Given the description of an element on the screen output the (x, y) to click on. 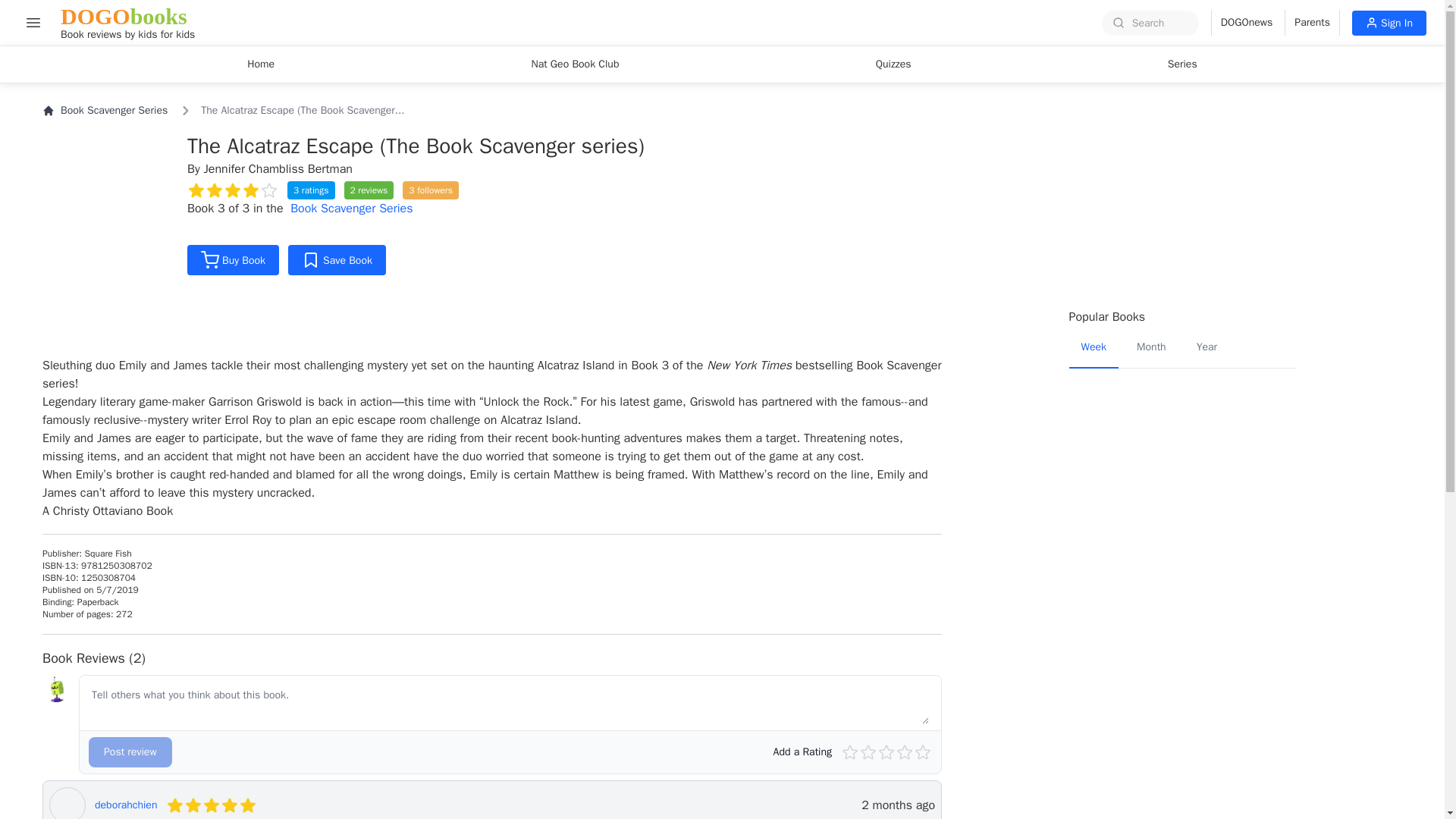
Home (260, 63)
Book Scavenger Series (350, 208)
Buy Book (233, 259)
Month (1150, 347)
Series (1182, 63)
Week (1093, 347)
3rd party ad content (1182, 196)
Quizzes (893, 63)
Year (1206, 347)
June 4, 2024 (897, 805)
Book Scavenger Series (104, 110)
DOGOnews (128, 22)
Nat Geo Book Club (1241, 22)
Save Book (574, 63)
